Given the description of an element on the screen output the (x, y) to click on. 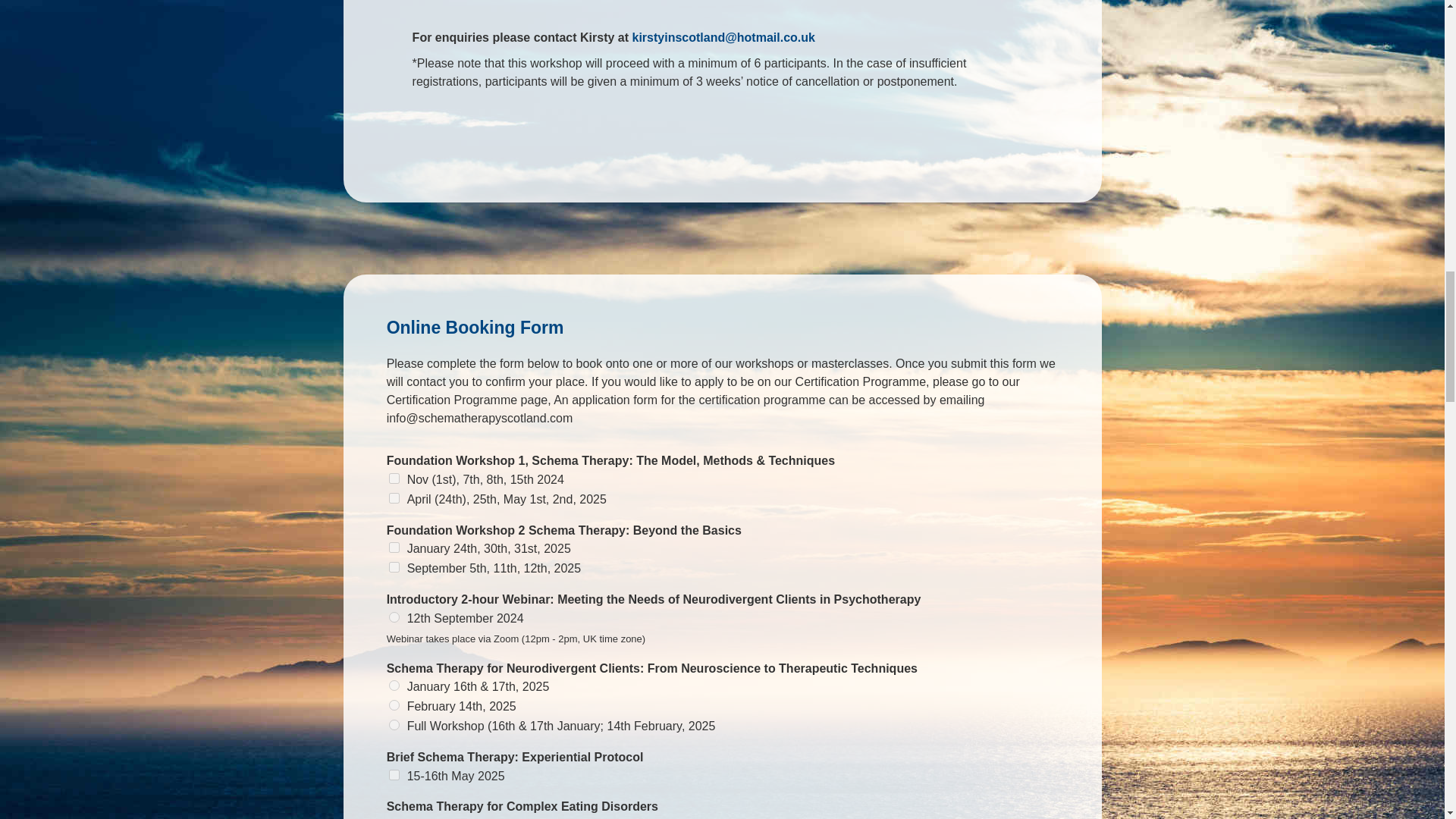
September 5th, 11th, 12th, 2025 (393, 566)
12th September 2024 (393, 616)
15-16th May 2025 (393, 774)
January 24th, 30th, 31st, 2025 (393, 547)
February 14th, 2025 (393, 705)
